Given the description of an element on the screen output the (x, y) to click on. 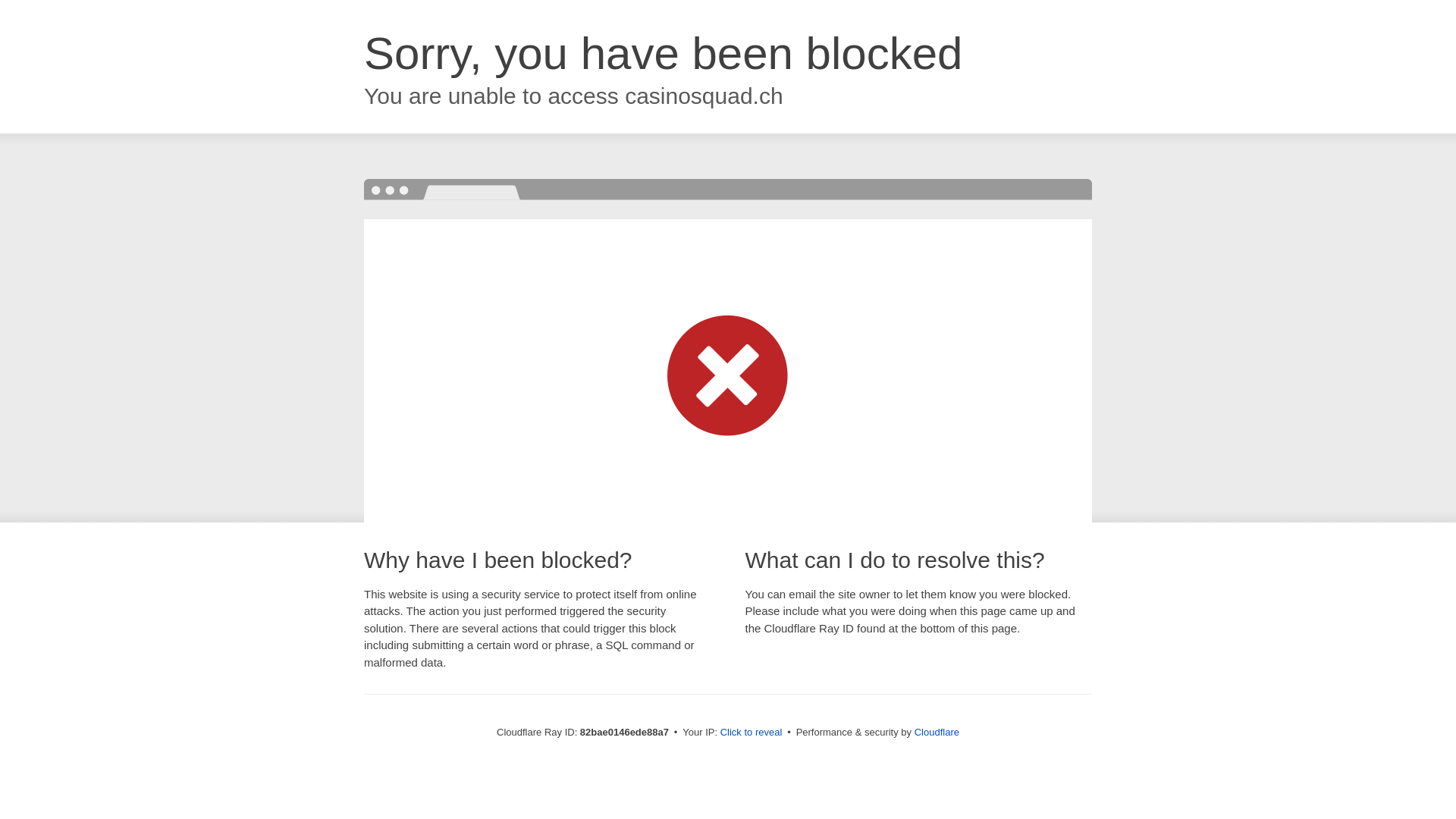
Click to reveal Element type: text (751, 732)
Cloudflare Element type: text (936, 731)
